Given the description of an element on the screen output the (x, y) to click on. 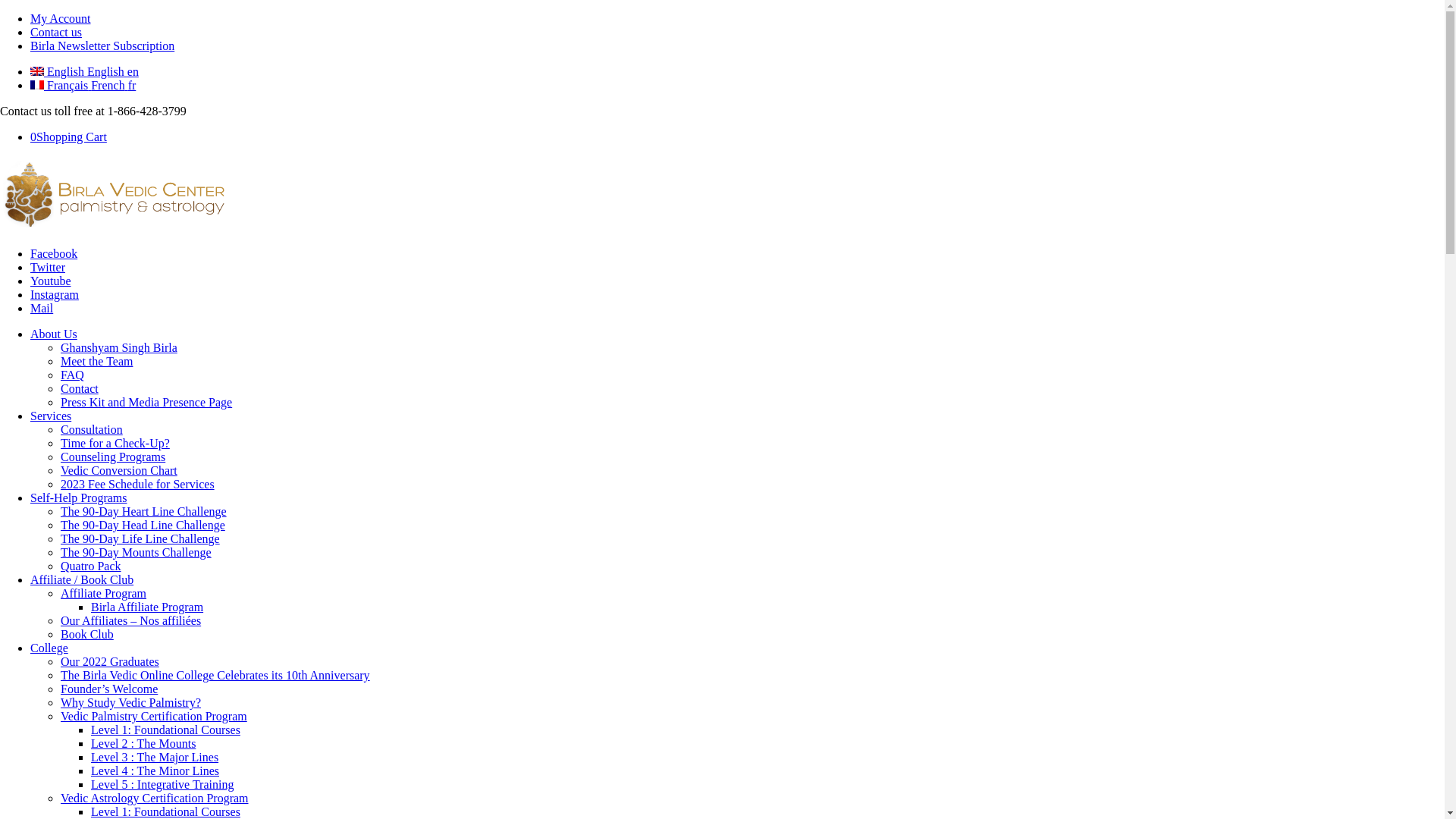
Ghanshyam Singh Birla Element type: text (118, 347)
About Us Element type: text (53, 333)
The 90-Day Head Line Challenge Element type: text (142, 524)
0Shopping Cart Element type: text (68, 136)
The 90-Day Heart Line Challenge Element type: text (143, 511)
Level 2 : The Mounts Element type: text (143, 743)
College Element type: text (49, 647)
Level 1: Foundational Courses Element type: text (165, 729)
Meet the Team Element type: text (96, 360)
logo-eng Element type: hover (113, 194)
Our 2022 Graduates Element type: text (109, 661)
Vedic Palmistry Certification Program Element type: text (153, 715)
Affiliate / Book Club Element type: text (81, 579)
Twitter Element type: text (47, 266)
Birla Affiliate Program Element type: text (147, 606)
Counseling Programs Element type: text (112, 456)
Consultation Element type: text (91, 429)
Time for a Check-Up? Element type: text (114, 442)
Affiliate Program Element type: text (103, 592)
Press Kit and Media Presence Page Element type: text (146, 401)
Self-Help Programs Element type: text (78, 497)
My Account Element type: text (60, 18)
The 90-Day Mounts Challenge Element type: text (135, 552)
Quatro Pack Element type: text (90, 565)
Mail Element type: text (41, 307)
2023 Fee Schedule for Services Element type: text (137, 483)
Contact us Element type: text (55, 31)
Youtube Element type: text (50, 280)
Why Study Vedic Palmistry? Element type: text (130, 702)
English Element type: hover (36, 70)
Level 1: Foundational Courses Element type: text (165, 811)
FAQ Element type: text (72, 374)
logo-eng Element type: hover (113, 227)
Level 3 : The Major Lines Element type: text (154, 756)
English English en Element type: text (84, 71)
Level 4 : The Minor Lines Element type: text (155, 770)
Book Club Element type: text (86, 633)
Birla Newsletter Subscription Element type: text (102, 45)
Level 5 : Integrative Training Element type: text (162, 784)
Facebook Element type: text (53, 253)
Services Element type: text (50, 415)
Contact Element type: text (79, 388)
Instagram Element type: text (54, 294)
Vedic Conversion Chart Element type: text (118, 470)
Vedic Astrology Certification Program Element type: text (154, 797)
The 90-Day Life Line Challenge Element type: text (139, 538)
